Given the description of an element on the screen output the (x, y) to click on. 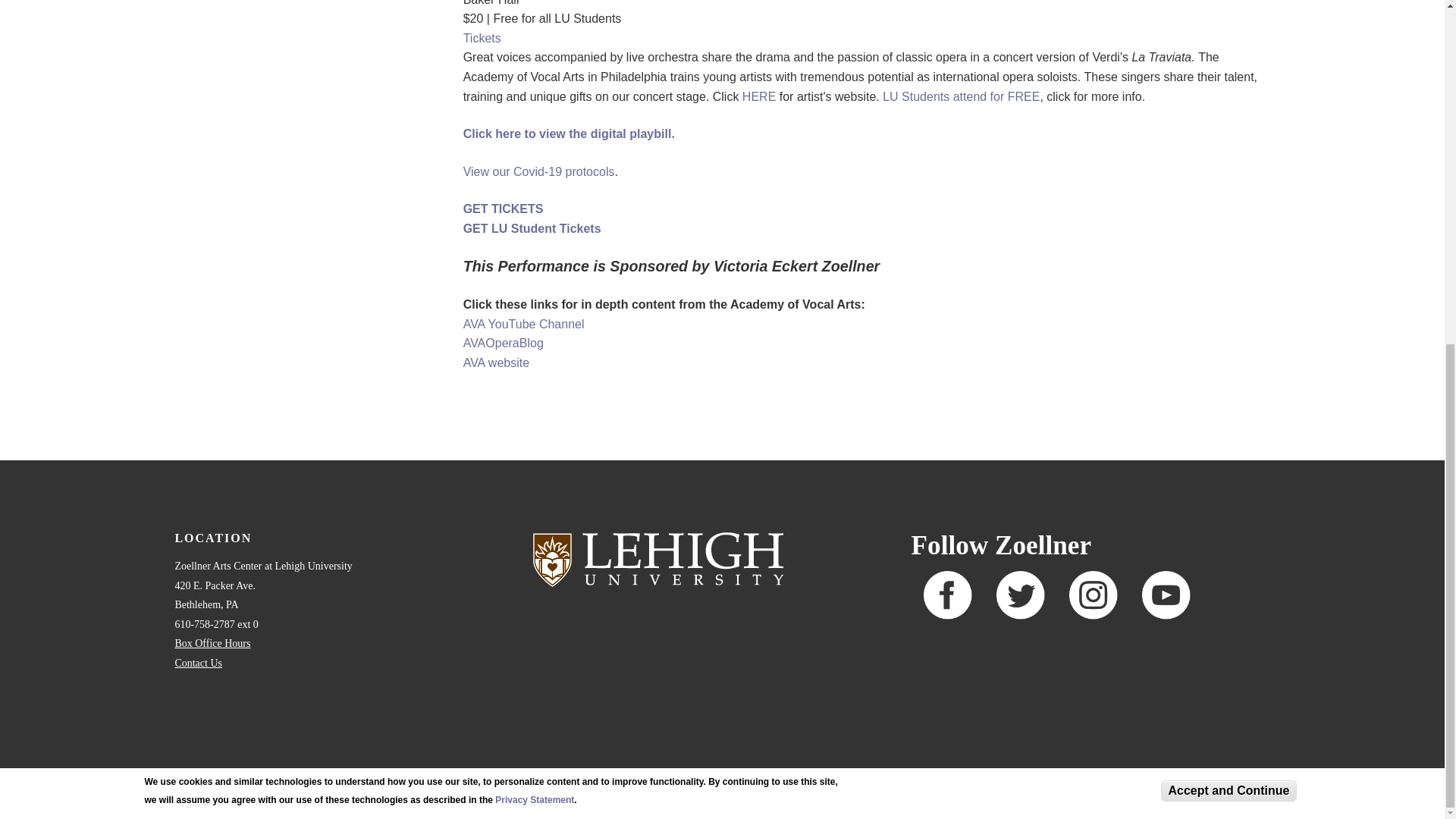
LU Students attend for FREE (960, 96)
AVA YouTube Channel (524, 323)
Accept and Continue (1227, 201)
AVAOperaBlog (503, 342)
Box Office Hours (212, 643)
AVA website (496, 362)
Lehigh Mobile App (533, 774)
Tickets (481, 38)
Maps (319, 774)
Web Accessibility (464, 774)
